Given the description of an element on the screen output the (x, y) to click on. 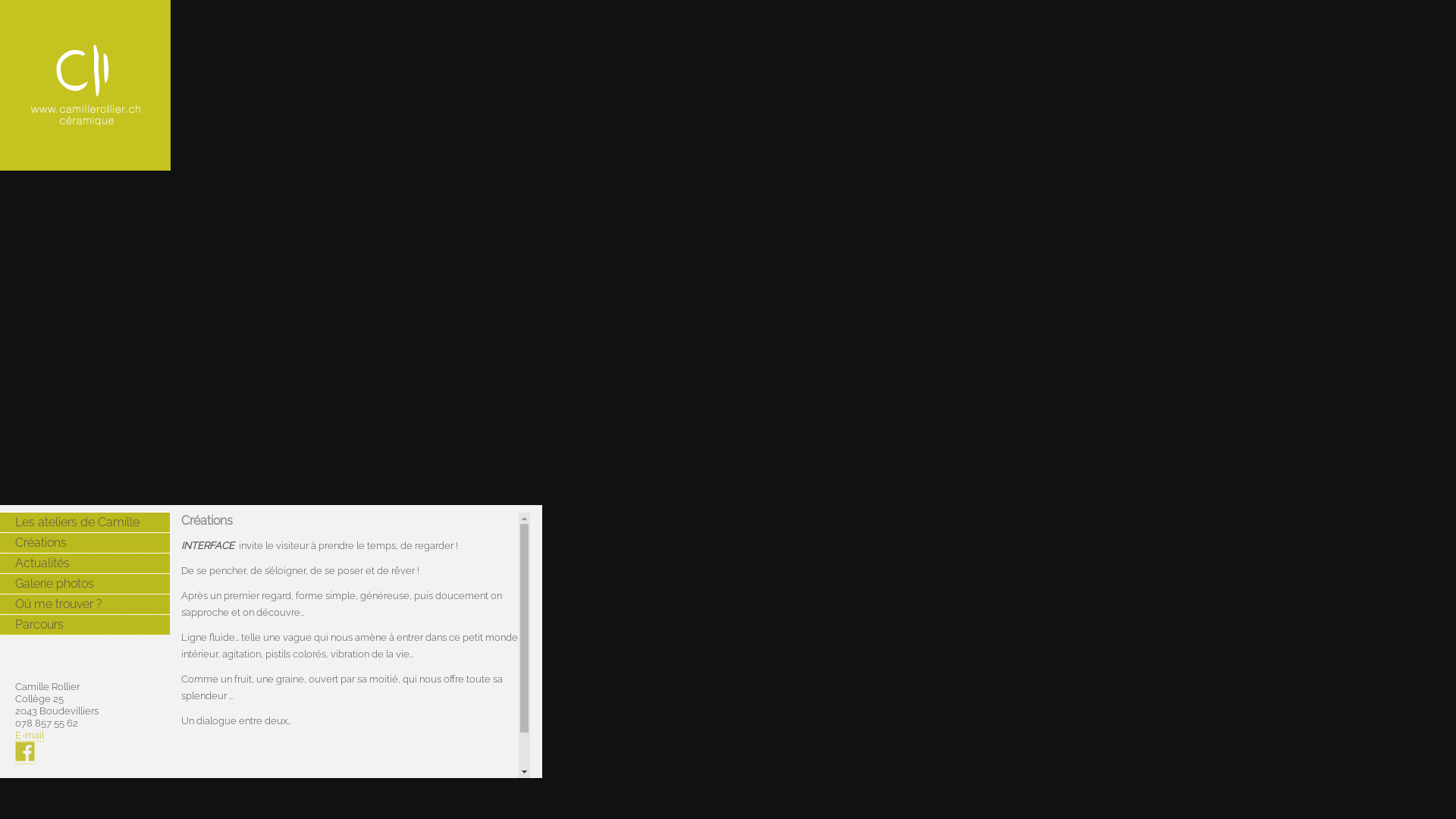
Galerie photos Element type: text (84, 583)
Parcours Element type: text (84, 624)
E-mail Element type: text (29, 735)
Les ateliers de Camille Element type: text (84, 522)
